Given the description of an element on the screen output the (x, y) to click on. 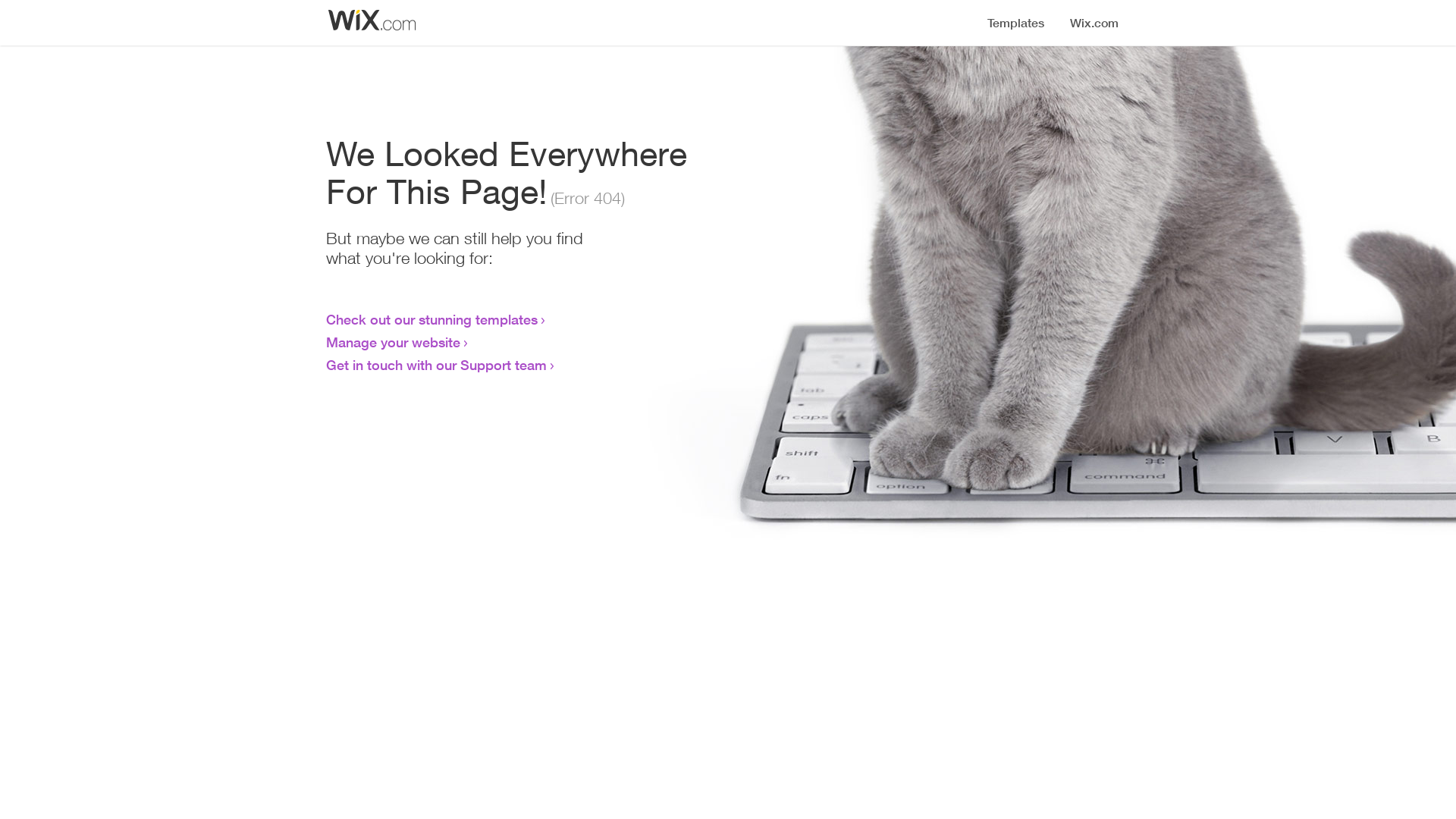
Manage your website Element type: text (393, 341)
Check out our stunning templates Element type: text (431, 318)
Get in touch with our Support team Element type: text (436, 364)
